Given the description of an element on the screen output the (x, y) to click on. 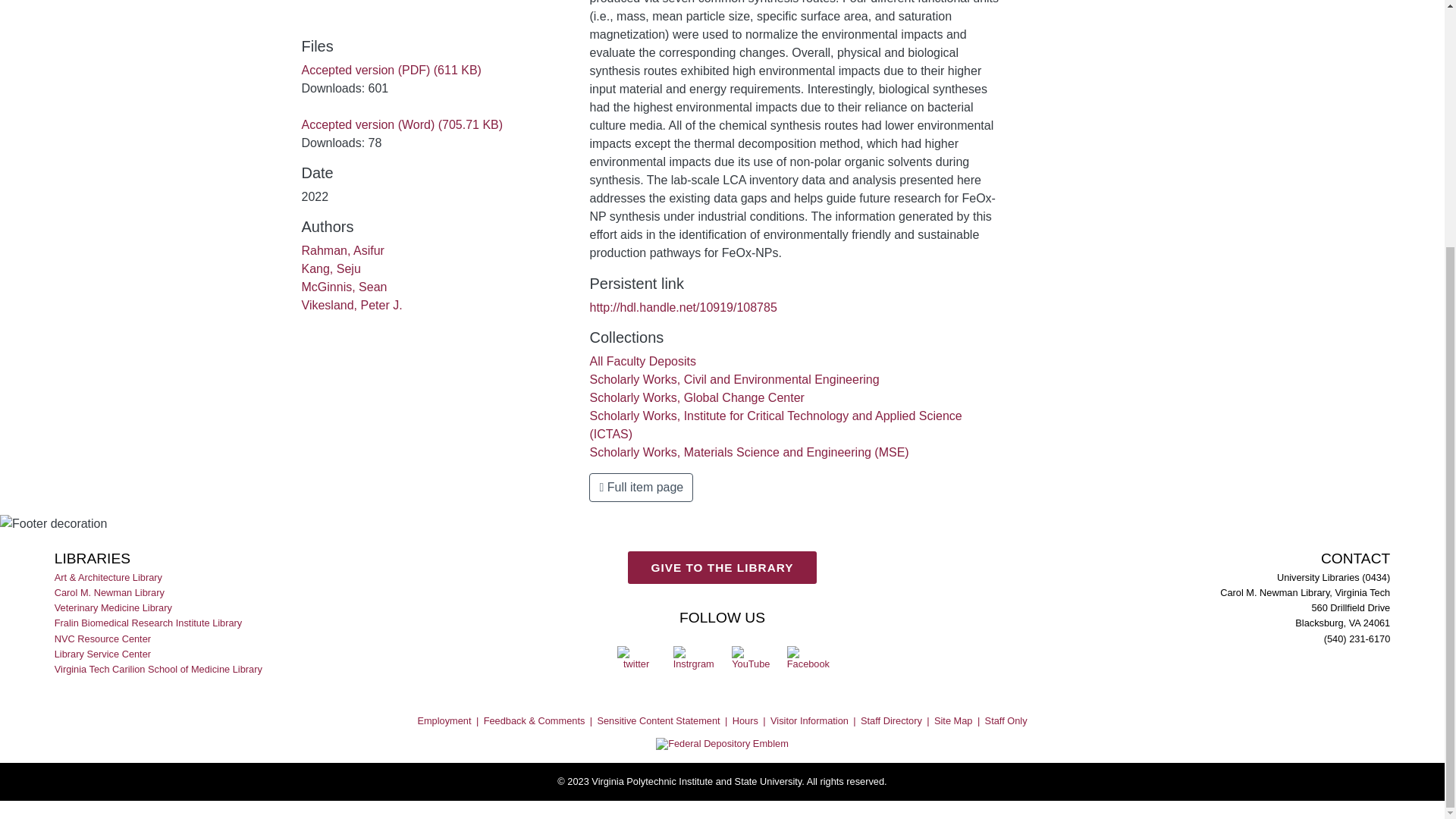
Vikesland, Peter J. (352, 305)
Rahman, Asifur (342, 250)
Kang, Seju (331, 268)
All Faculty Deposits (642, 360)
McGinnis, Sean (344, 286)
Scholarly Works, Global Change Center (696, 397)
Scholarly Works, Civil and Environmental Engineering (734, 379)
